Given the description of an element on the screen output the (x, y) to click on. 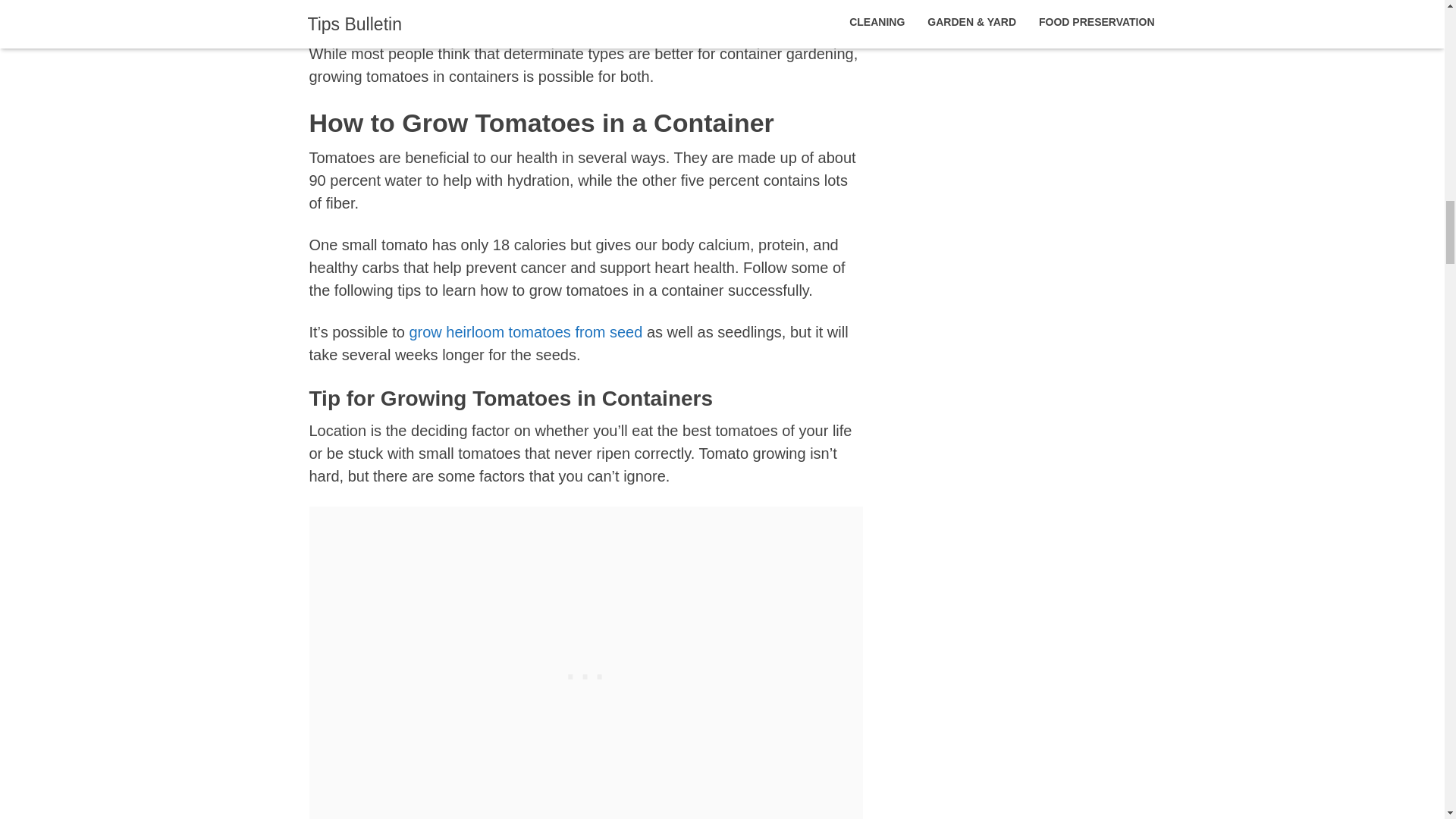
grow heirloom tomatoes from seed (525, 331)
